Given the description of an element on the screen output the (x, y) to click on. 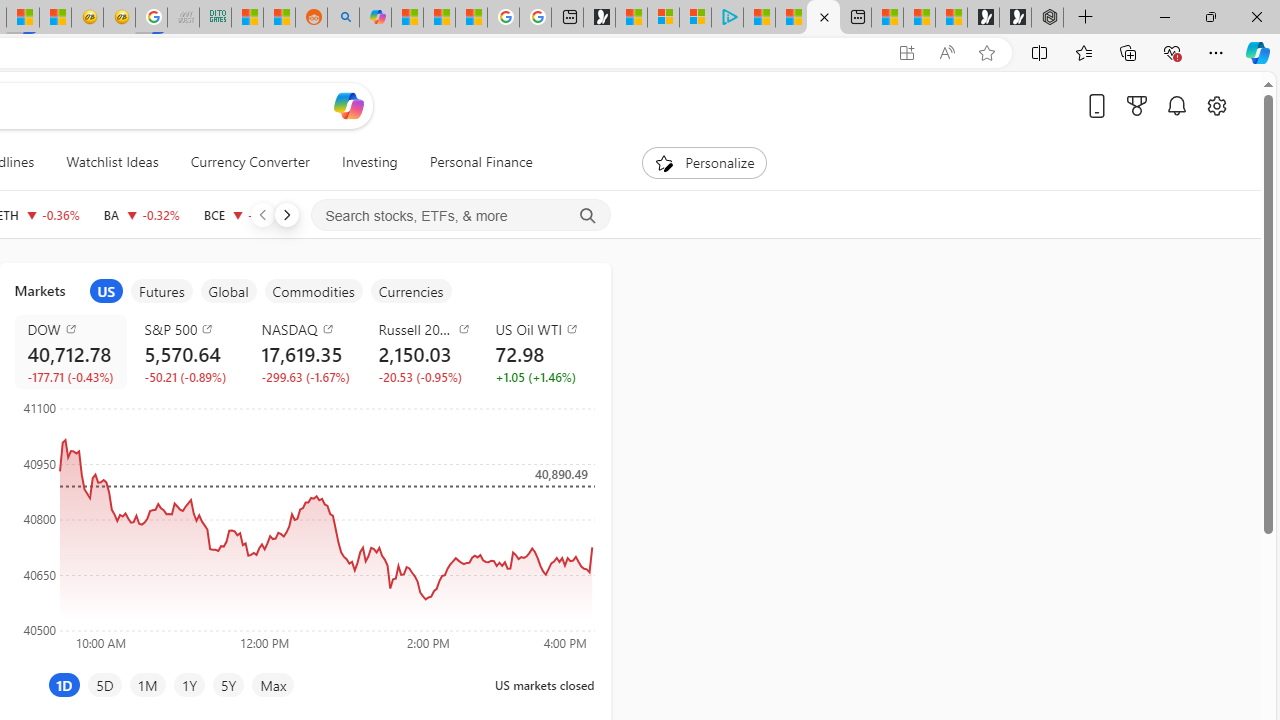
Class: recharts-surface (304, 524)
item1 (106, 291)
DOW (73, 328)
5Y (228, 684)
App available. Install Start Money (906, 53)
DOW DJI decrease 40,712.78 -177.71 -0.43% (70, 351)
BA THE BOEING COMPANY decrease 172.87 -0.56 -0.32% (141, 214)
Currency Converter (250, 162)
item5 (410, 291)
